Given the description of an element on the screen output the (x, y) to click on. 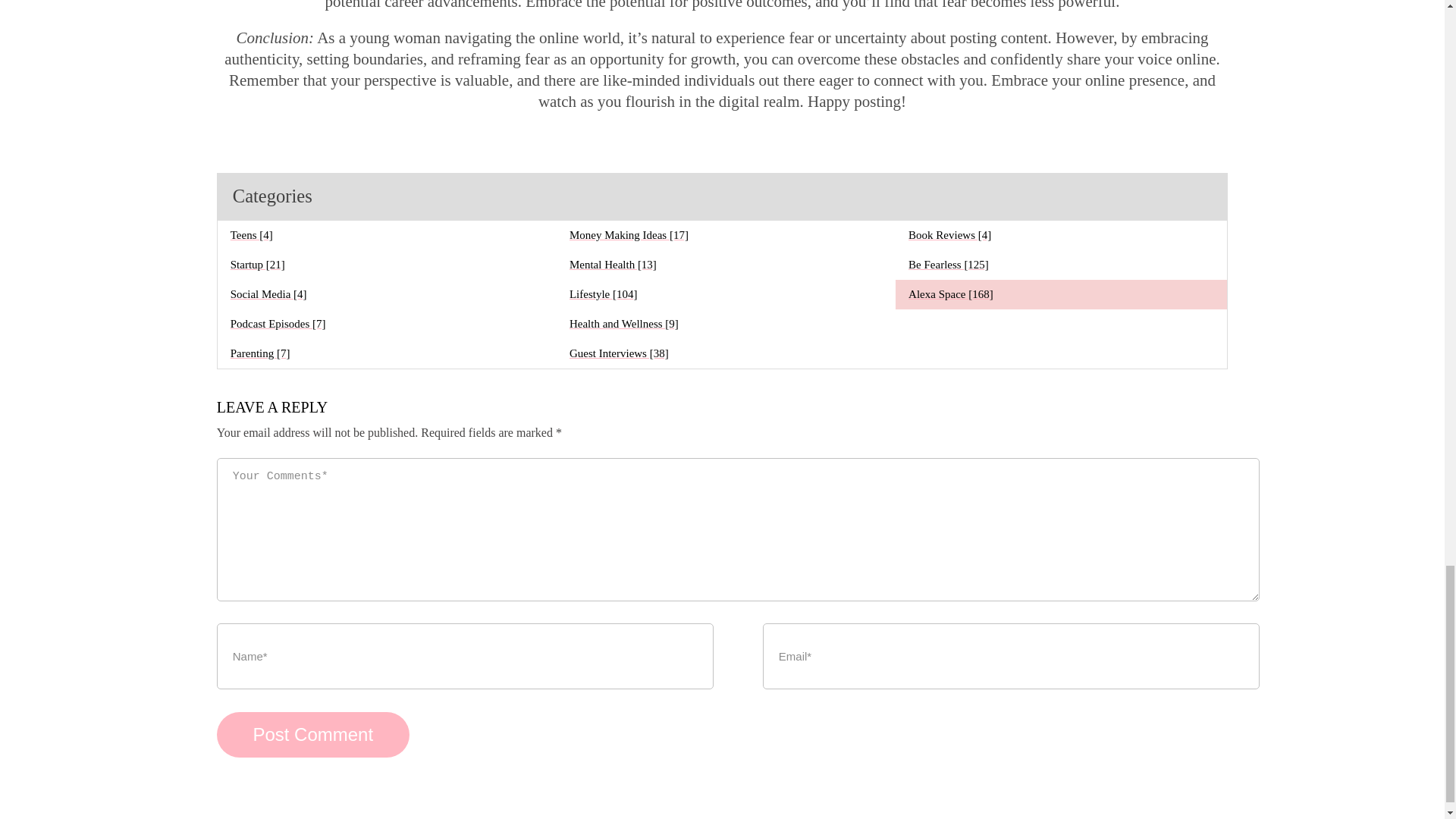
Post Comment (312, 734)
